Given the description of an element on the screen output the (x, y) to click on. 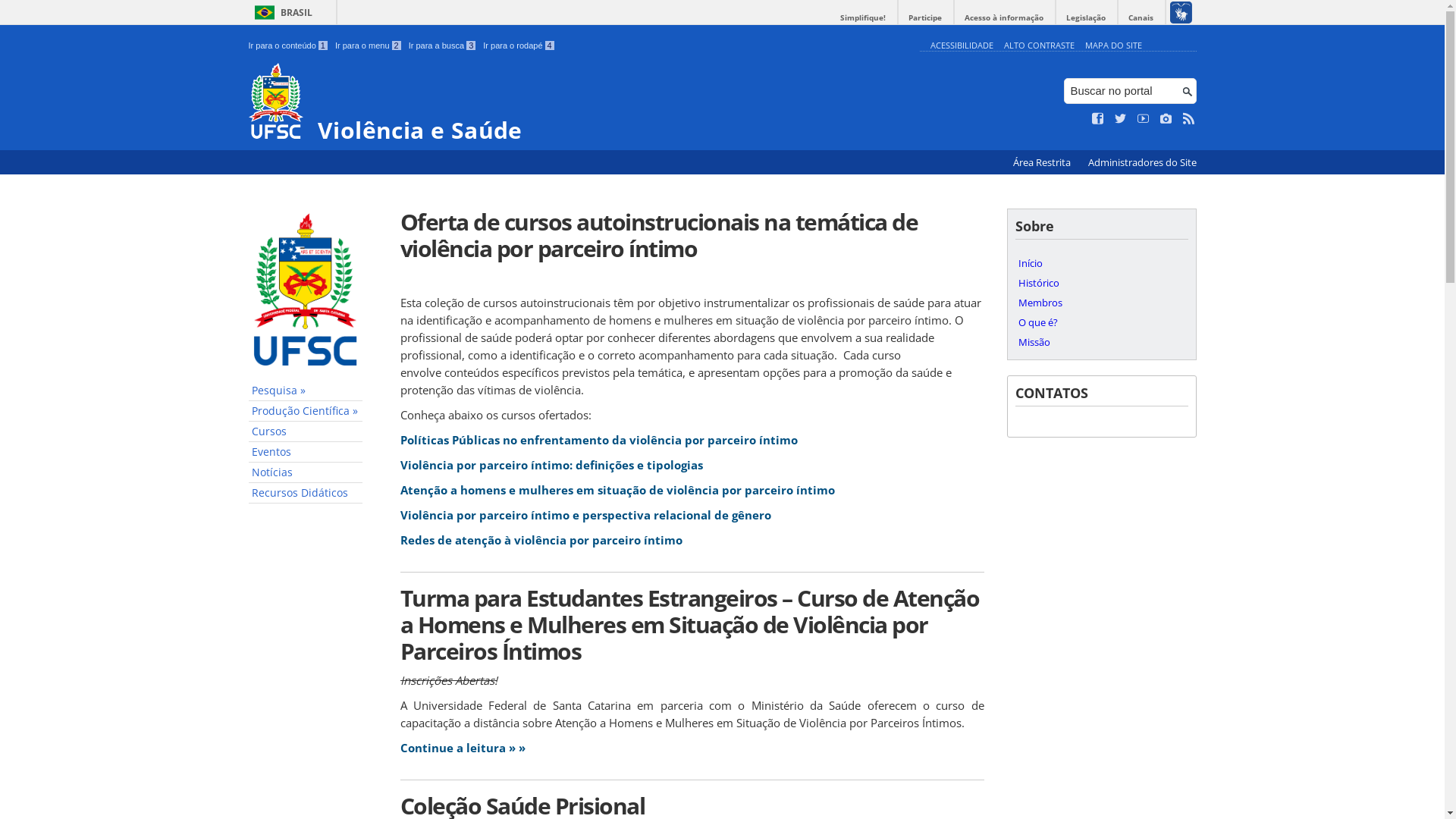
ACESSIBILIDADE Element type: text (960, 44)
Administradores do Site Element type: text (1141, 162)
Cursos Element type: text (305, 431)
Canais Element type: text (1140, 18)
ALTO CONTRASTE Element type: text (1039, 44)
Ir para o menu 2 Element type: text (368, 45)
Simplifique! Element type: text (862, 18)
MAPA DO SITE Element type: text (1112, 44)
Membros Element type: text (1100, 302)
BRASIL Element type: text (280, 12)
Curta no Facebook Element type: hover (1098, 118)
Siga no Twitter Element type: hover (1120, 118)
Participe Element type: text (924, 18)
Eventos Element type: text (305, 452)
Veja no Instagram Element type: hover (1166, 118)
Ir para a busca 3 Element type: text (442, 45)
